Given the description of an element on the screen output the (x, y) to click on. 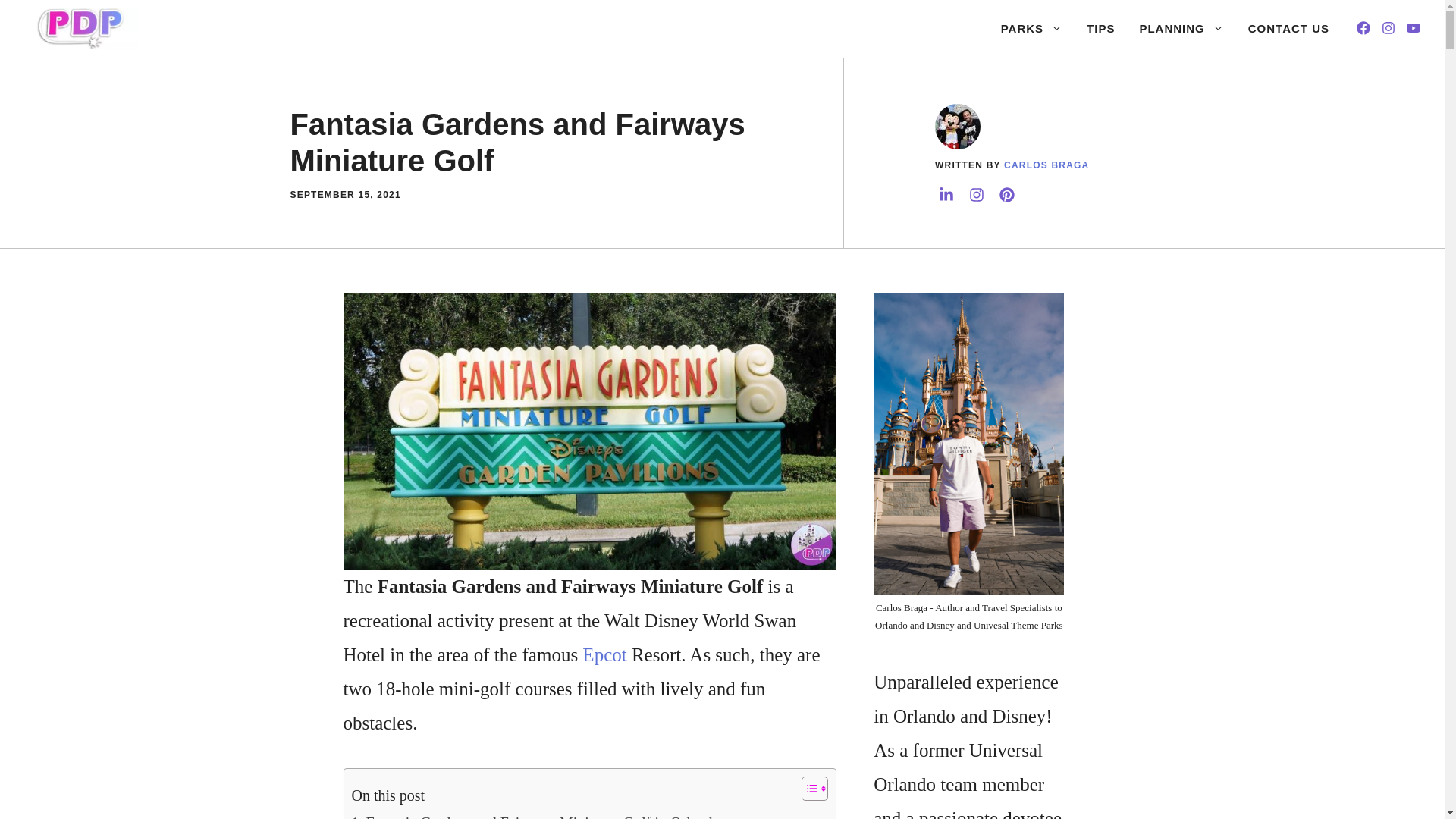
TIPS (1100, 28)
Fantasia Gardens and Fairways Miniature Golf in Orlando (536, 814)
Epcot (604, 654)
PARKS (1031, 28)
Fantasia Gardens and Fairways Miniature Golf in Orlando (536, 814)
CARLOS BRAGA (1046, 164)
PLANNING (1180, 28)
CONTACT US (1288, 28)
